Given the description of an element on the screen output the (x, y) to click on. 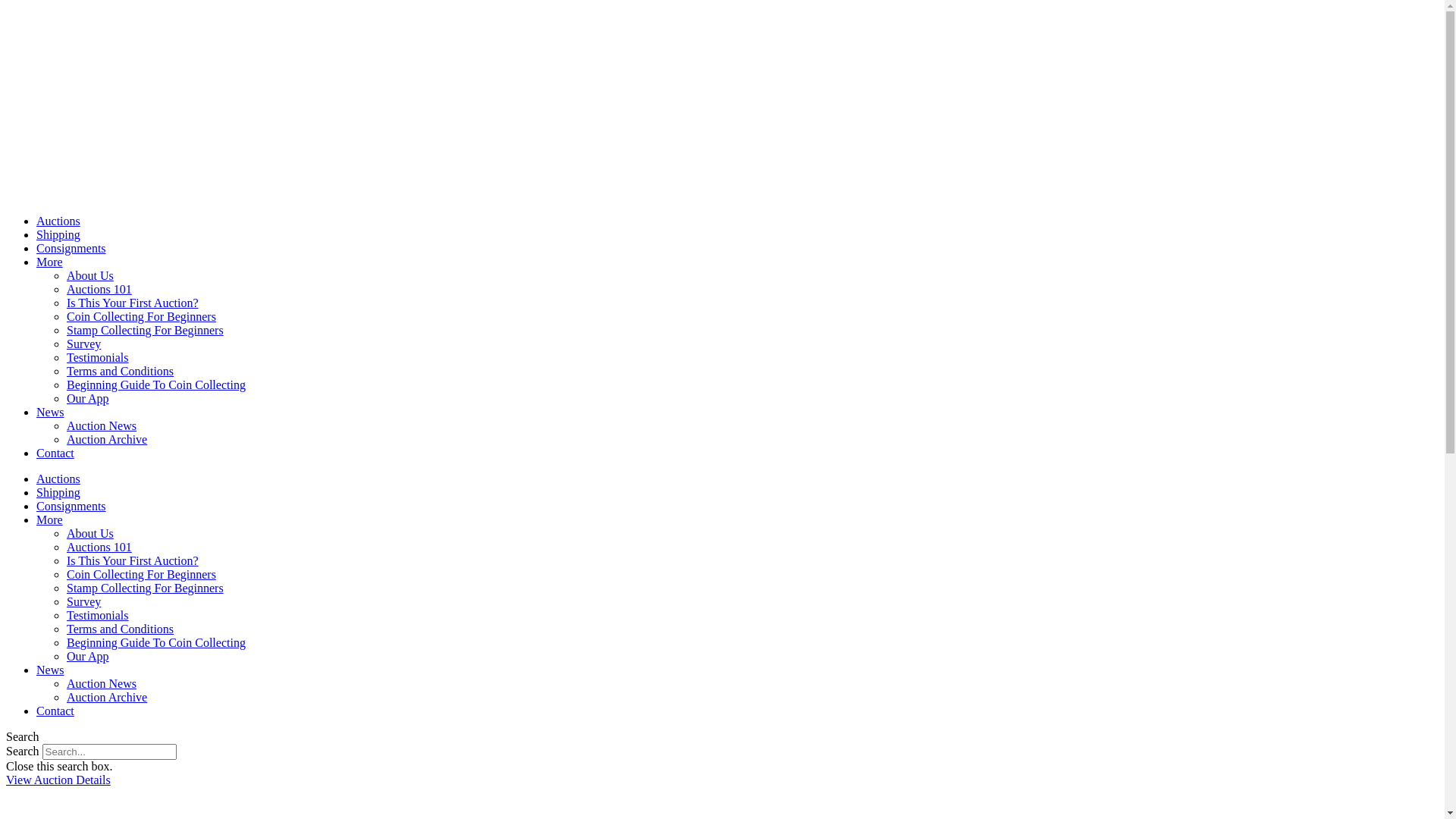
Coin Collecting For Beginners Element type: text (141, 316)
Coin Collecting For Beginners Element type: text (141, 573)
Auctions 101 Element type: text (98, 288)
Skip to content Element type: text (5, 5)
Auctions Element type: text (58, 478)
Survey Element type: text (83, 601)
Auction Archive Element type: text (106, 439)
Stamp Collecting For Beginners Element type: text (144, 587)
Terms and Conditions Element type: text (119, 628)
Is This Your First Auction? Element type: text (132, 560)
View Auction Details Element type: text (58, 779)
Beginning Guide To Coin Collecting Element type: text (155, 384)
Consignments Element type: text (71, 505)
More Element type: text (49, 261)
Shipping Element type: text (58, 492)
Consignments Element type: text (71, 247)
About Us Element type: text (89, 275)
Contact Element type: text (55, 452)
Testimonials Element type: text (97, 614)
Auctions Element type: text (58, 220)
News Element type: text (49, 669)
News Element type: text (49, 411)
Auction News Element type: text (101, 425)
Survey Element type: text (83, 343)
Our App Element type: text (87, 655)
Stamp Collecting For Beginners Element type: text (144, 329)
About Us Element type: text (89, 533)
Auctions 101 Element type: text (98, 546)
Testimonials Element type: text (97, 357)
Auction Archive Element type: text (106, 696)
Our App Element type: text (87, 398)
More Element type: text (49, 519)
Shipping Element type: text (58, 234)
Auction News Element type: text (101, 683)
Is This Your First Auction? Element type: text (132, 302)
Beginning Guide To Coin Collecting Element type: text (155, 642)
Contact Element type: text (55, 710)
Terms and Conditions Element type: text (119, 370)
